Given the description of an element on the screen output the (x, y) to click on. 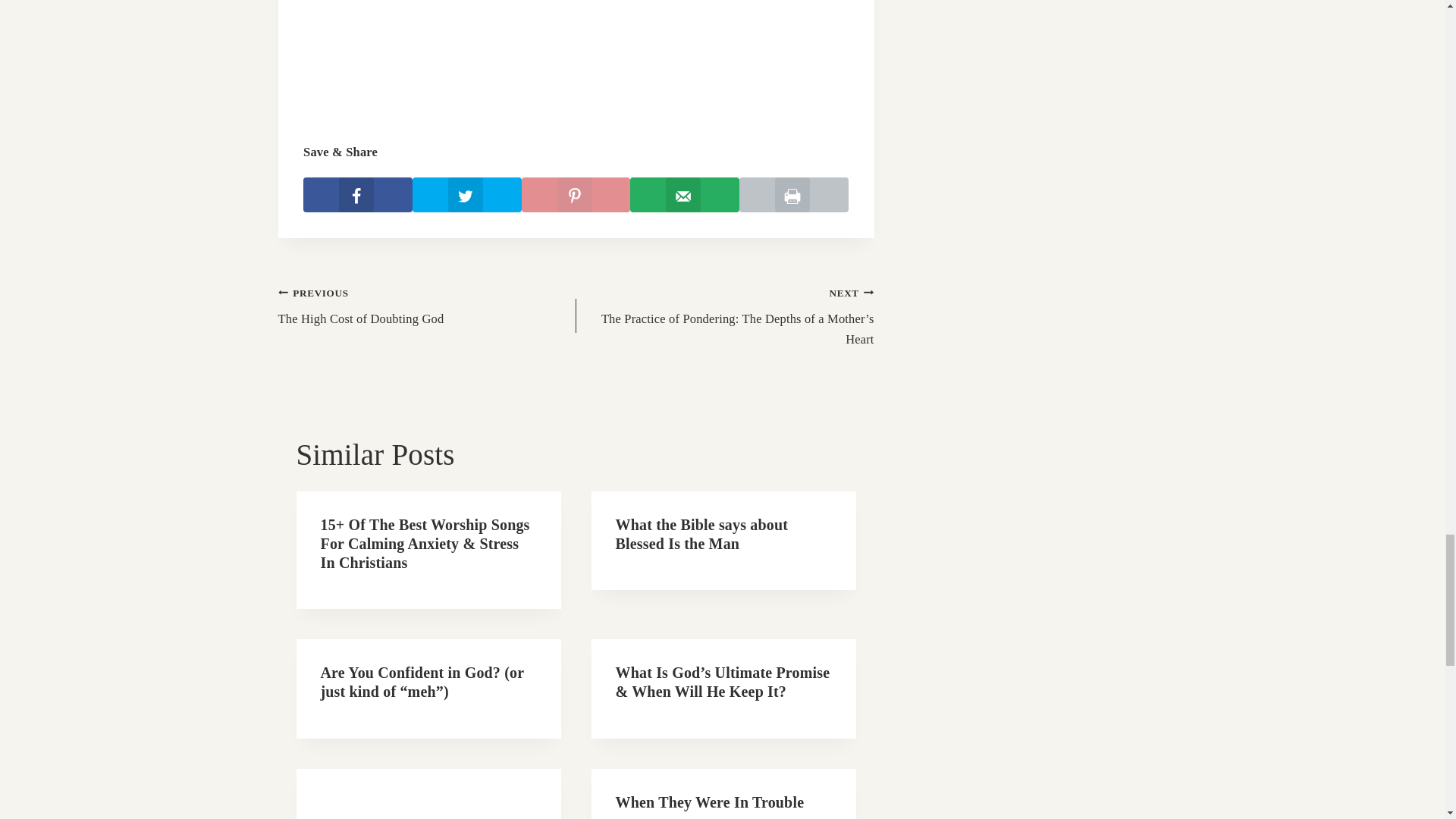
Send over email (684, 194)
Print this webpage (793, 194)
Share on Facebook (426, 305)
Share on Twitter (357, 194)
What the Bible says about Blessed Is the Man (466, 194)
Save to Pinterest (702, 534)
